Given the description of an element on the screen output the (x, y) to click on. 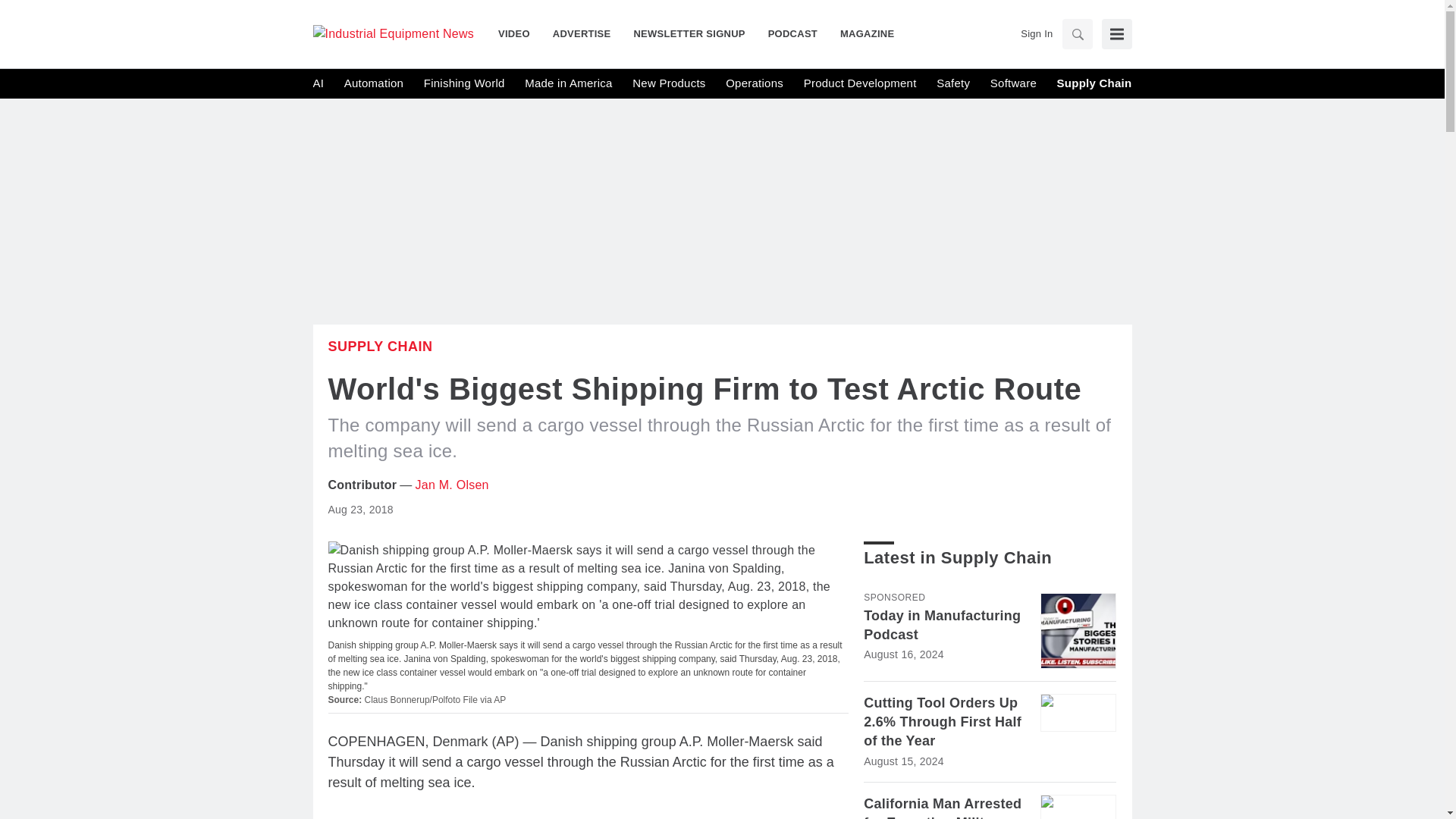
Automation (373, 83)
VIDEO (519, 33)
MAGAZINE (860, 33)
Product Development (860, 83)
NEWSLETTER SIGNUP (688, 33)
Sponsored (893, 596)
Made in America (567, 83)
ADVERTISE (582, 33)
Supply Chain (379, 346)
Operations (754, 83)
